Given the description of an element on the screen output the (x, y) to click on. 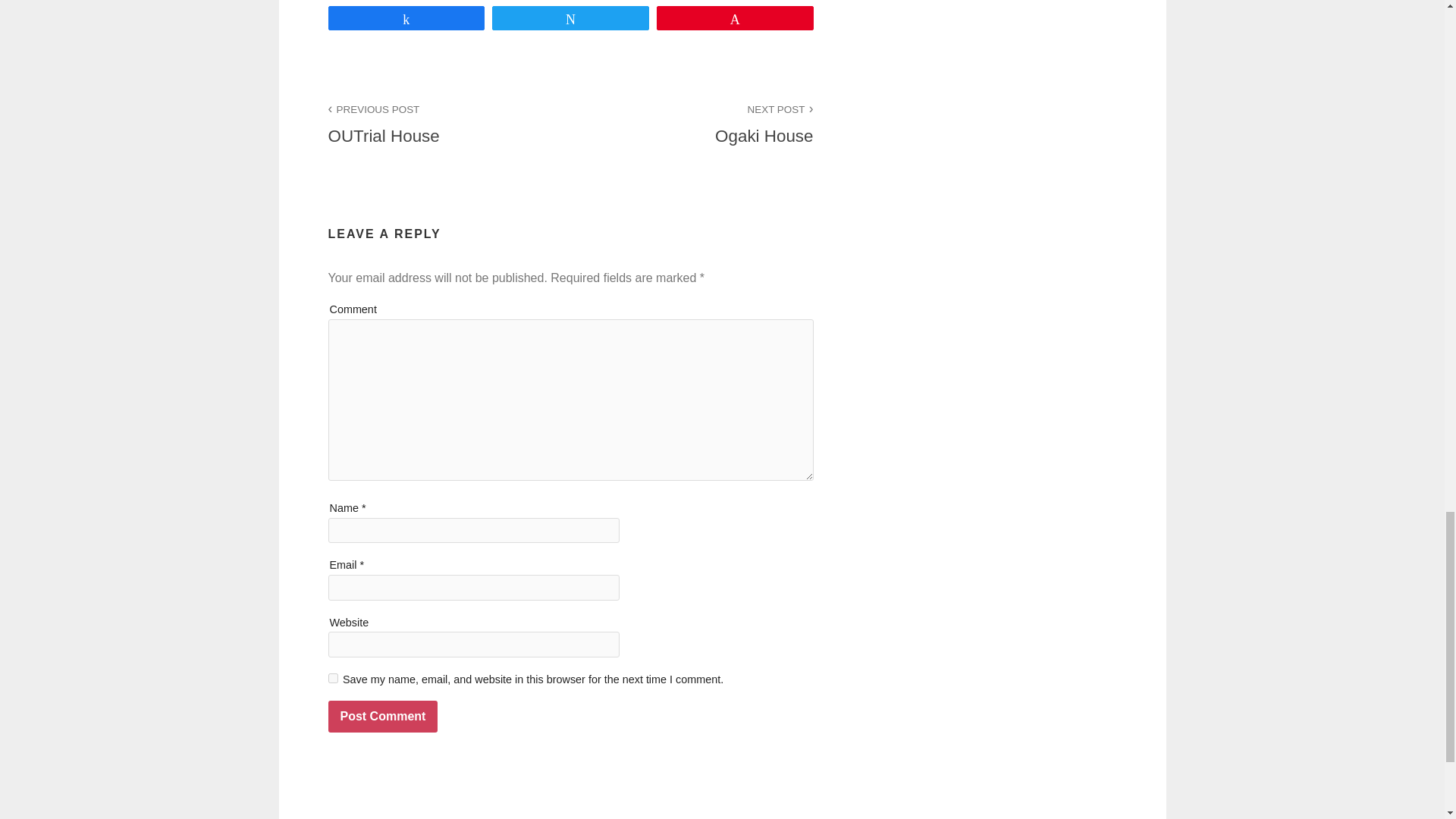
Post Comment (382, 716)
yes (332, 678)
Post Comment (382, 716)
